Given the description of an element on the screen output the (x, y) to click on. 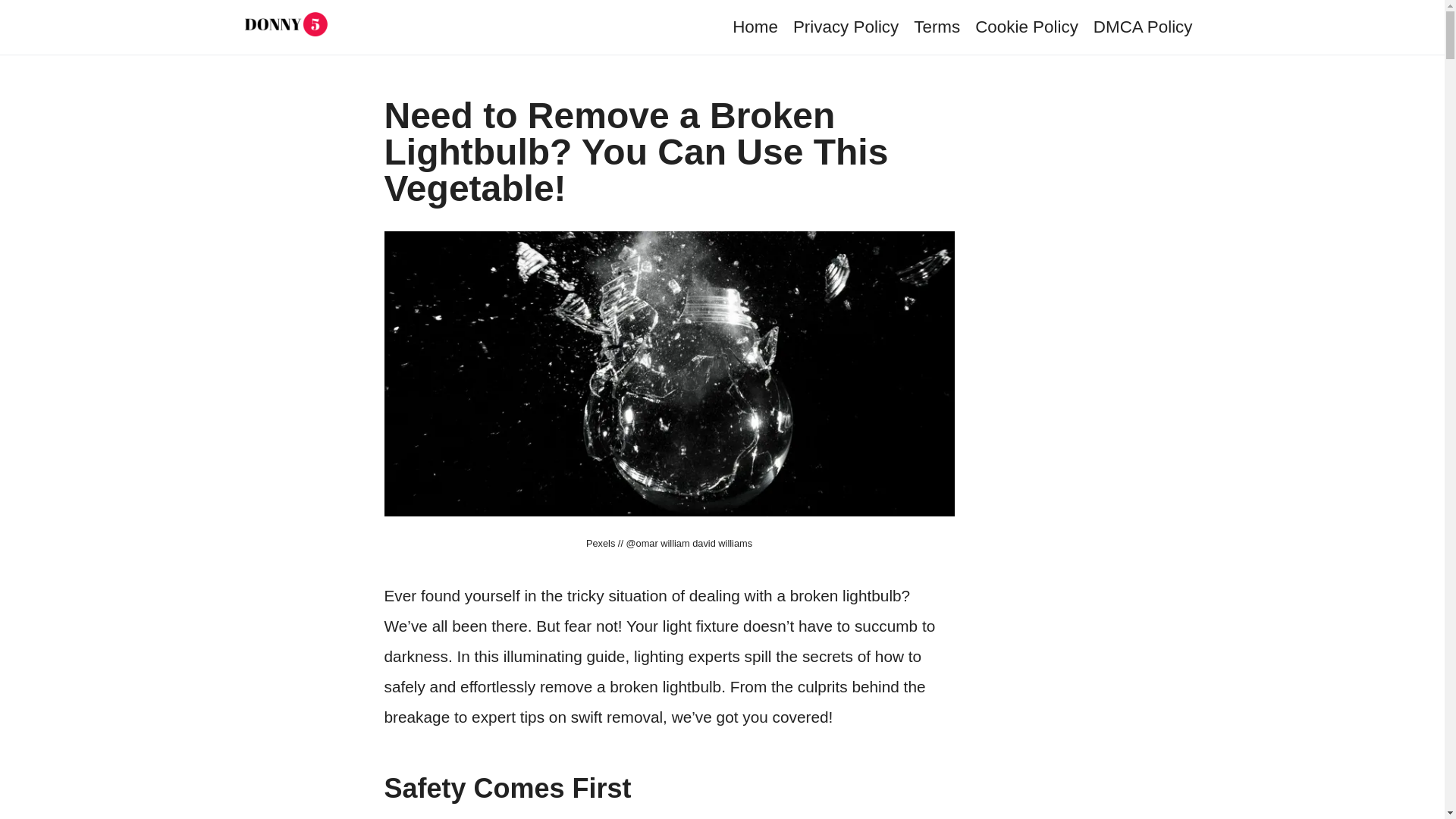
Cookie Policy (1026, 26)
Terms (936, 26)
Privacy Policy (845, 26)
DMCA Policy (1142, 26)
Home (754, 26)
